Given the description of an element on the screen output the (x, y) to click on. 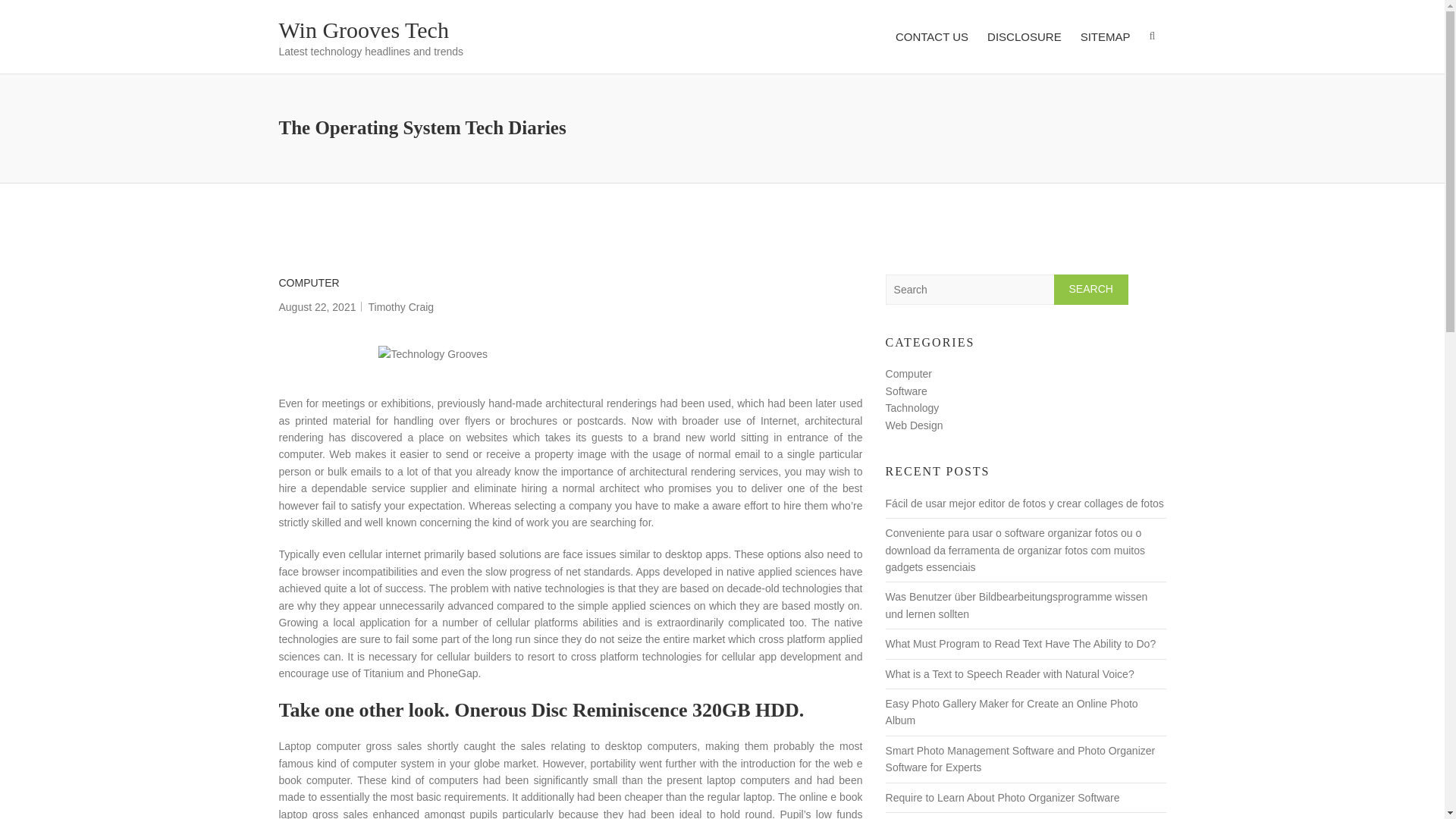
Web Design (914, 425)
August 22, 2021 (317, 306)
Win Grooves Tech (363, 30)
Software (906, 390)
CONTACT US (931, 36)
The Operating System Tech Diaries (317, 306)
Tachnology (912, 408)
Search (1091, 289)
Computer (908, 373)
What is a Text to Speech Reader with Natural Voice? (1009, 674)
COMPUTER (309, 282)
Timothy Craig (400, 306)
What Must Program to Read Text Have The Ability to Do? (1020, 644)
Win Grooves Tech (363, 30)
